Given the description of an element on the screen output the (x, y) to click on. 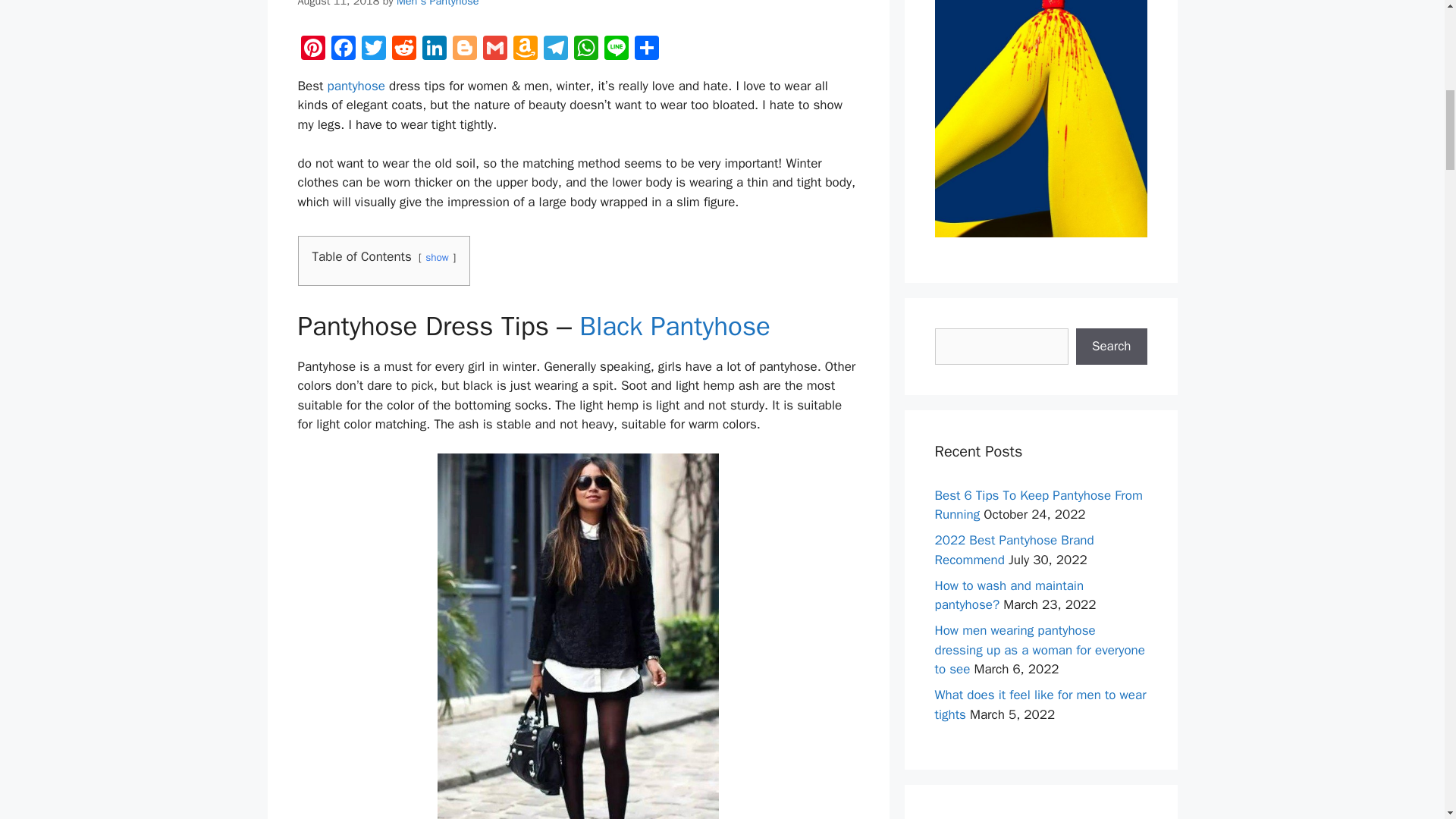
Blogger (463, 50)
Line (614, 50)
WhatsApp (584, 50)
Men's Pantyhose (437, 3)
Twitter (373, 50)
Reddit (403, 50)
Facebook (342, 50)
Telegram (555, 50)
Gmail (494, 50)
pantyhose (356, 85)
show (436, 256)
WhatsApp (584, 50)
Blogger (463, 50)
Amazon Wish List (524, 50)
Line (614, 50)
